Given the description of an element on the screen output the (x, y) to click on. 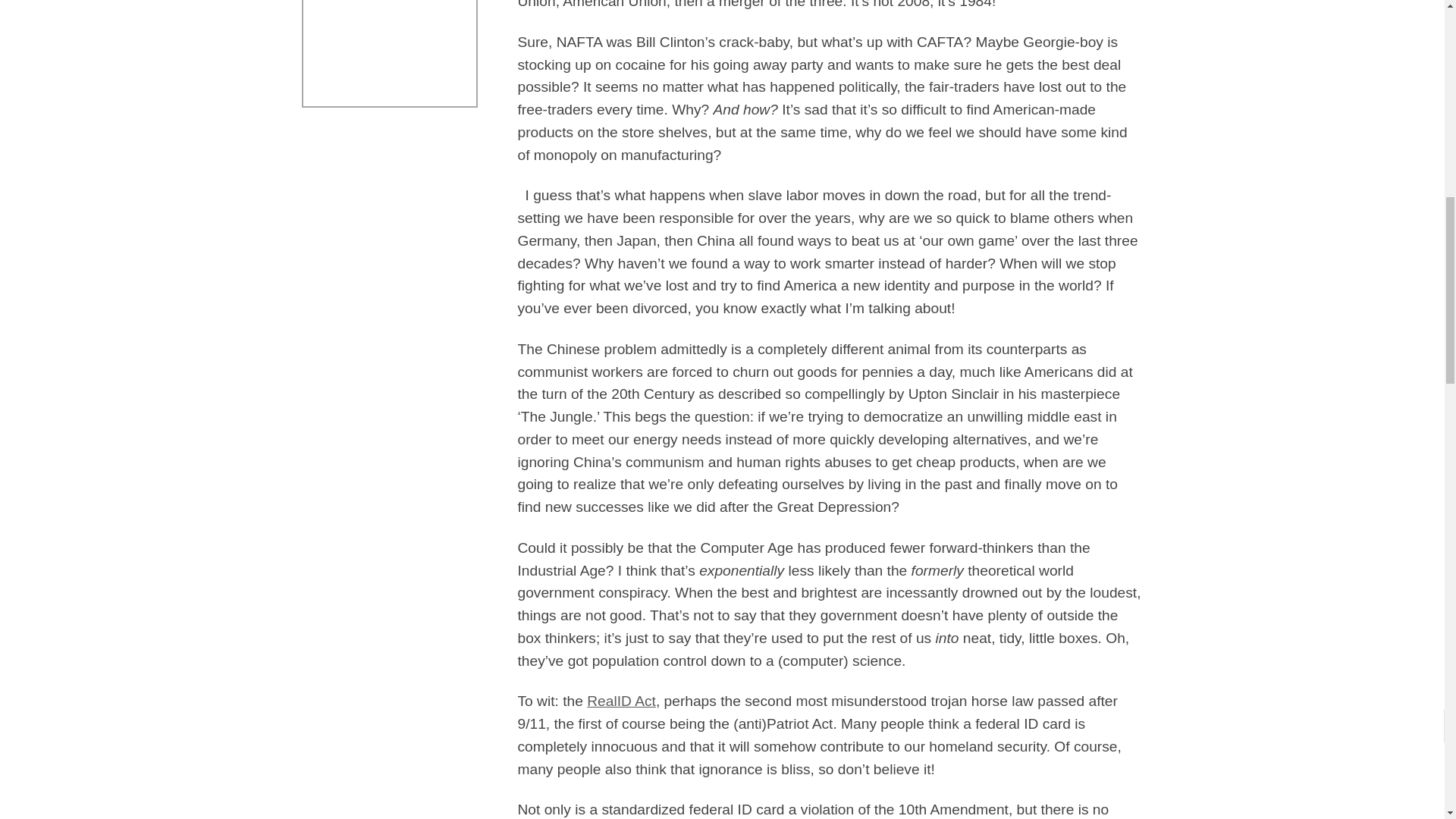
RealID Act (621, 700)
